Given the description of an element on the screen output the (x, y) to click on. 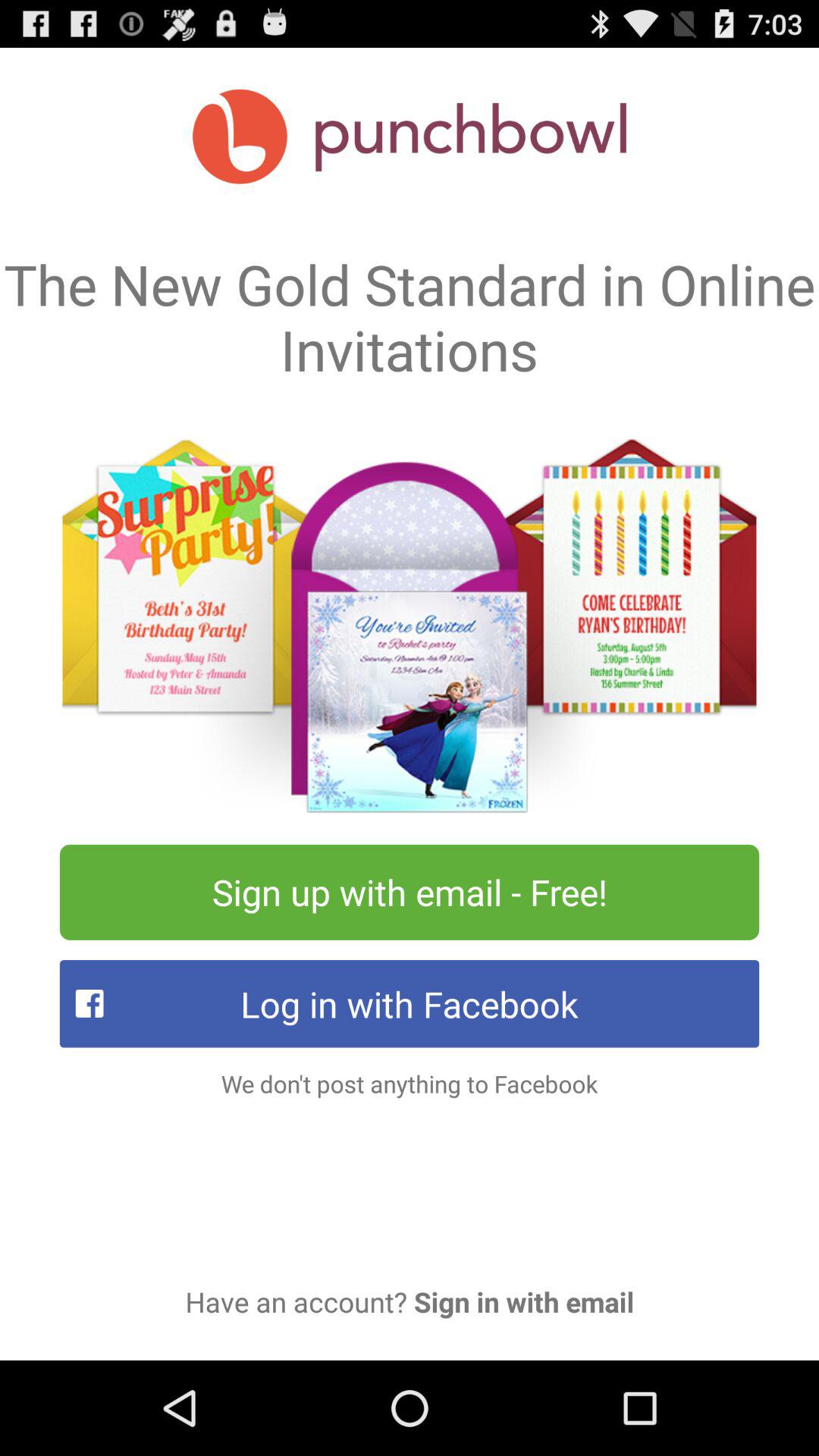
turn on the have an account item (409, 1301)
